Given the description of an element on the screen output the (x, y) to click on. 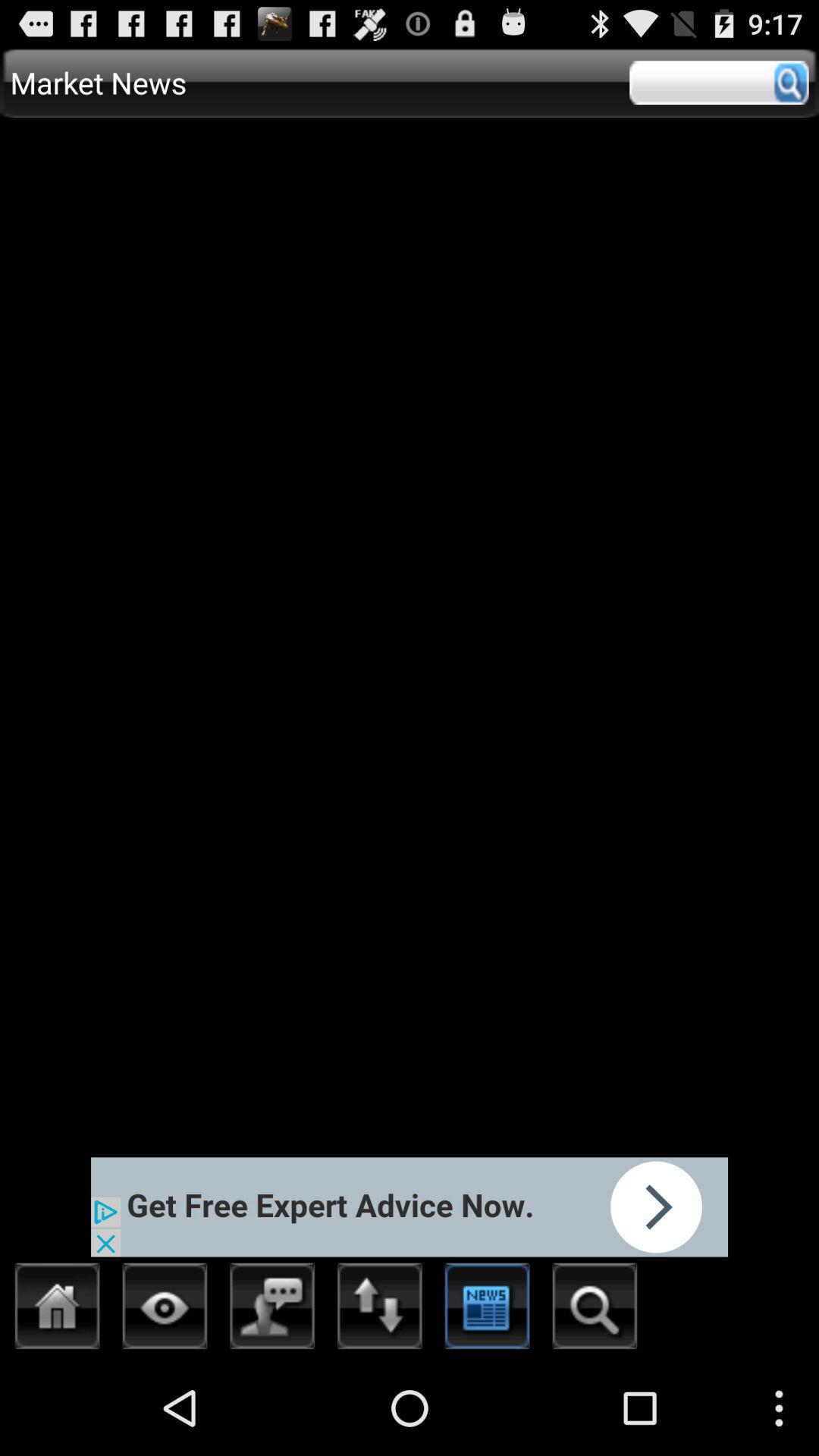
go to search (718, 82)
